Given the description of an element on the screen output the (x, y) to click on. 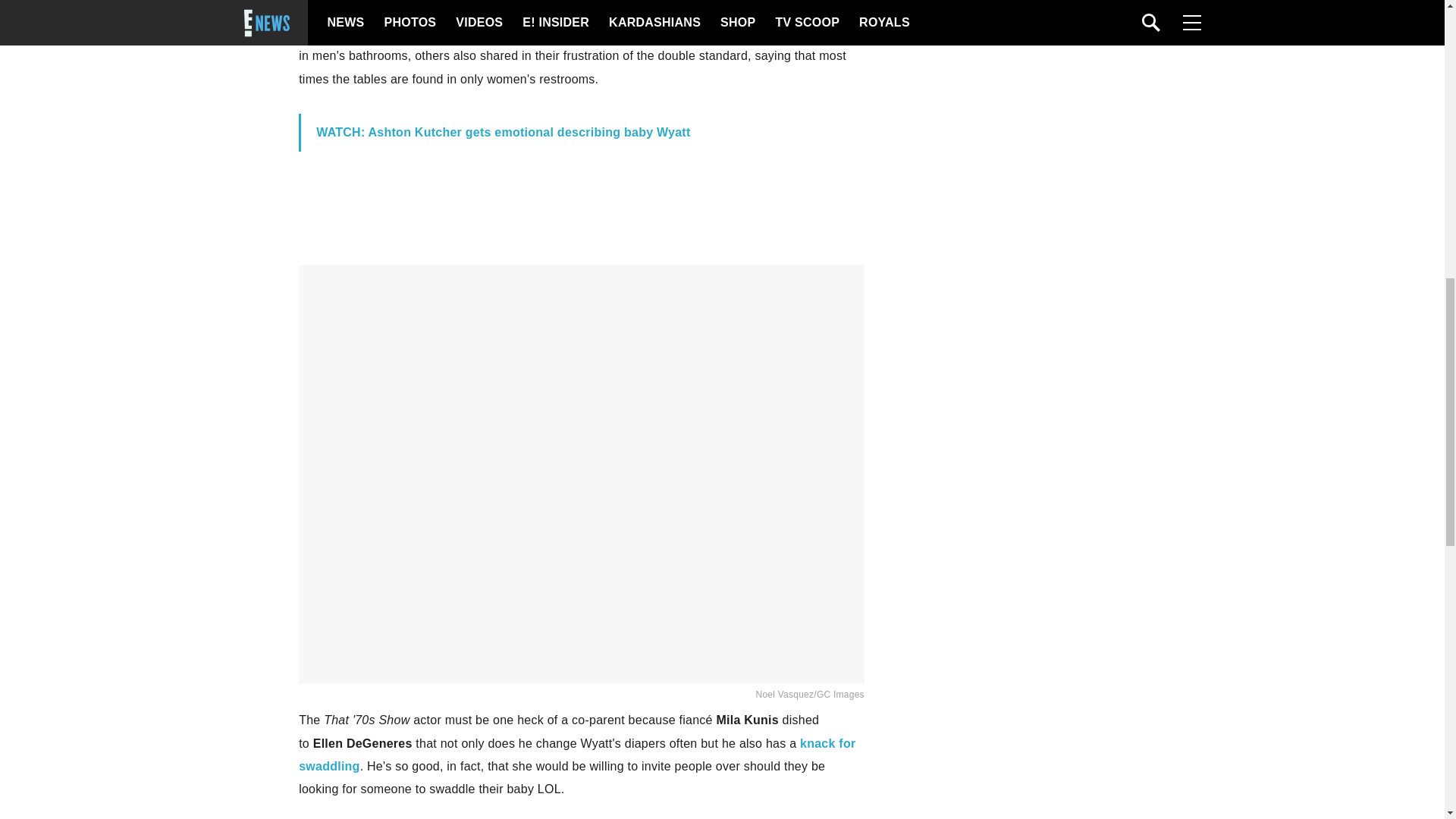
knack for swaddling (577, 755)
WATCH: Ashton Kutcher gets emotional describing baby Wyatt (502, 132)
